Given the description of an element on the screen output the (x, y) to click on. 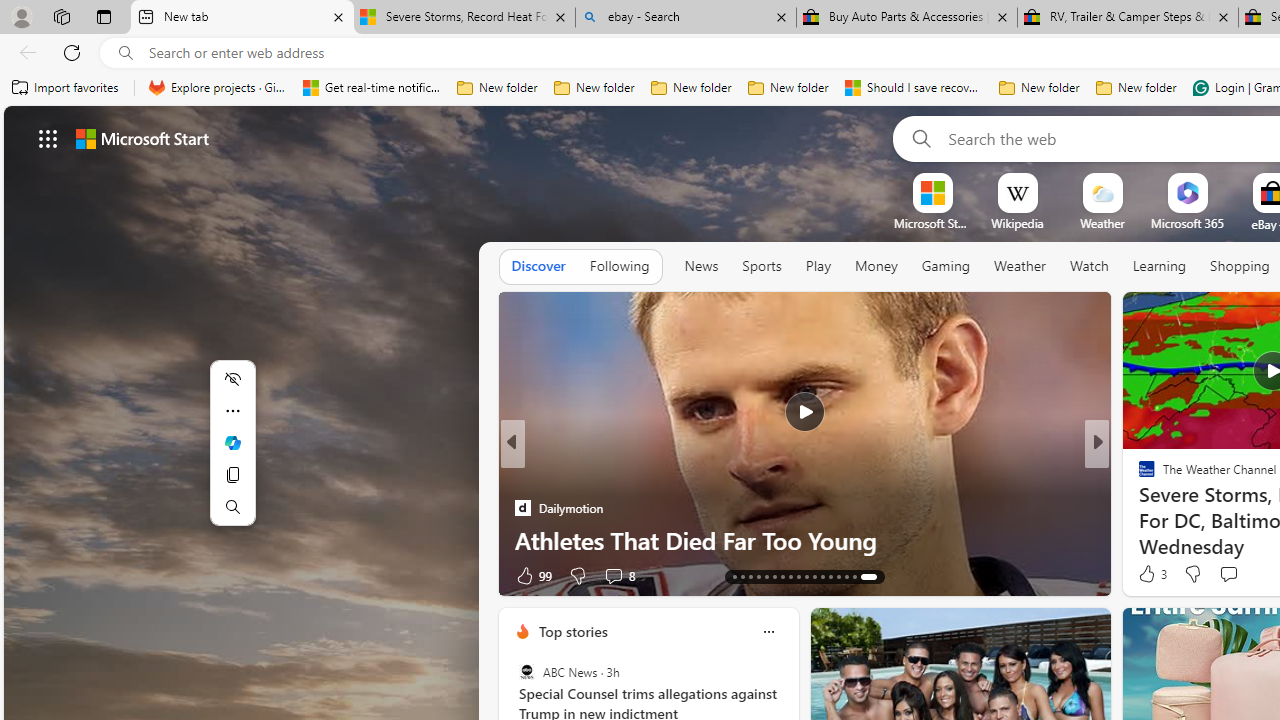
Hide menu (232, 378)
AutomationID: tab-22 (818, 576)
99 Like (1149, 574)
AutomationID: tab-17 (778, 576)
More actions (232, 410)
View comments 8 Comment (1234, 574)
Class: icon-img (768, 632)
Microsoft 365 (1186, 223)
Forge of Empires (1175, 507)
USA TODAY (1138, 475)
Top stories (572, 631)
Gaming (945, 265)
